Given the description of an element on the screen output the (x, y) to click on. 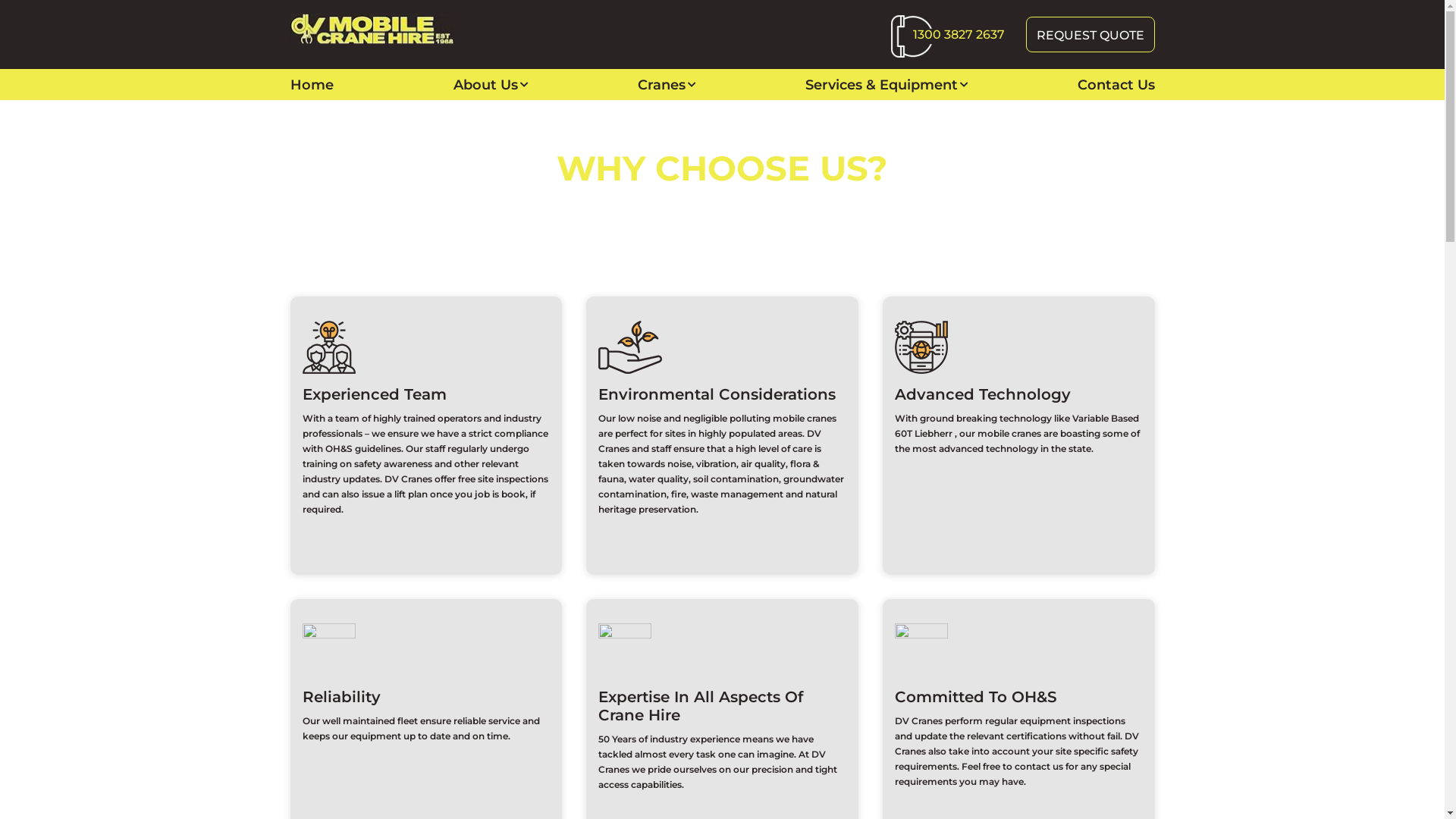
1300 3827 2637 Element type: text (958, 34)
About Us Element type: text (485, 84)
REQUEST QUOTE Element type: text (1089, 34)
Home Element type: text (310, 84)
Cranes Element type: text (660, 84)
Services & Equipment Element type: text (881, 84)
Home Element type: text (656, 199)
Contact Us Element type: text (1115, 84)
